Given the description of an element on the screen output the (x, y) to click on. 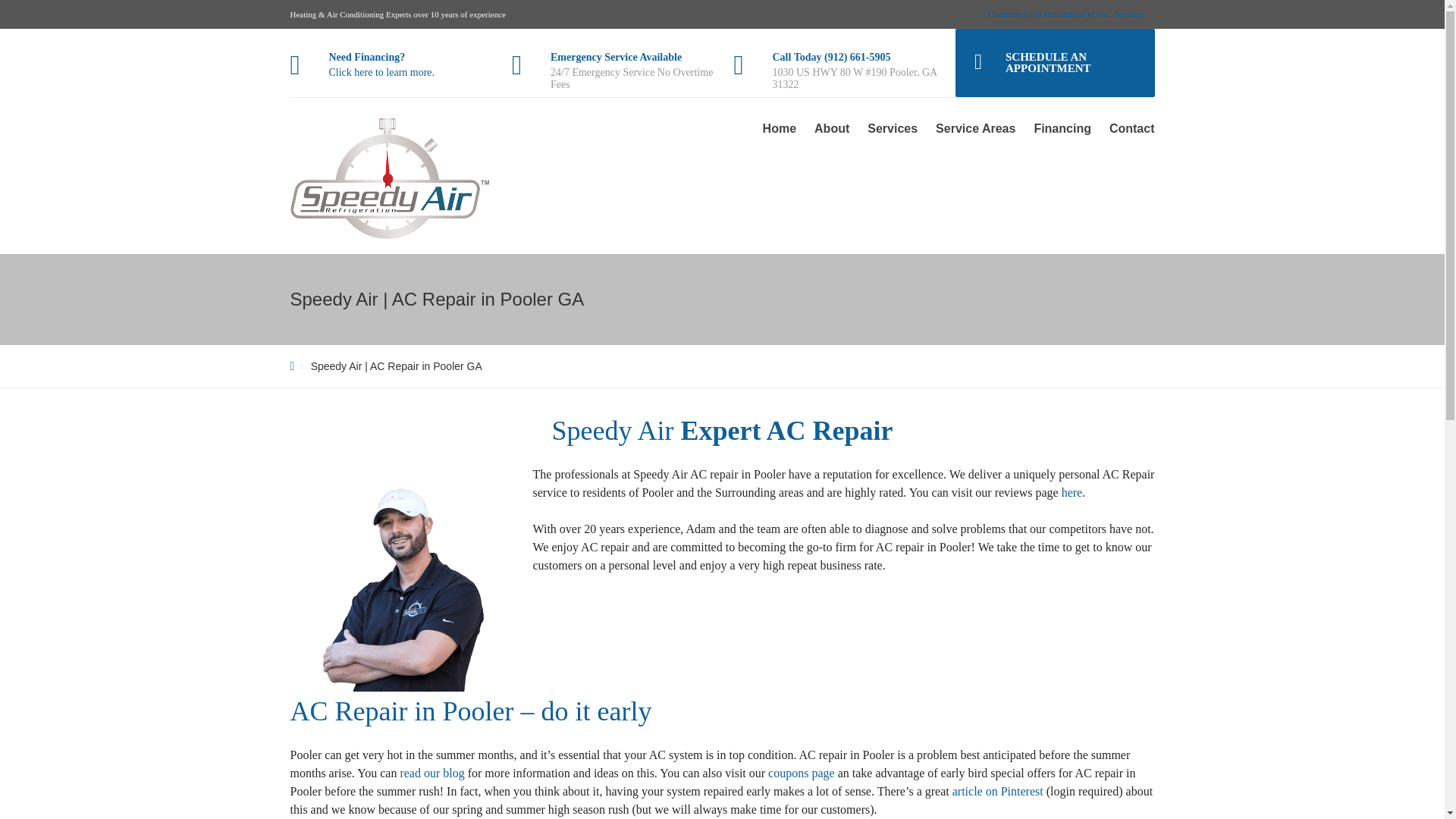
SCHEDULE AN APPOINTMENT (1054, 62)
Need Financing? (367, 57)
Home (779, 128)
Emergency Service Available (615, 57)
About (832, 128)
Services (892, 128)
Click here to learn more. (382, 71)
